Given the description of an element on the screen output the (x, y) to click on. 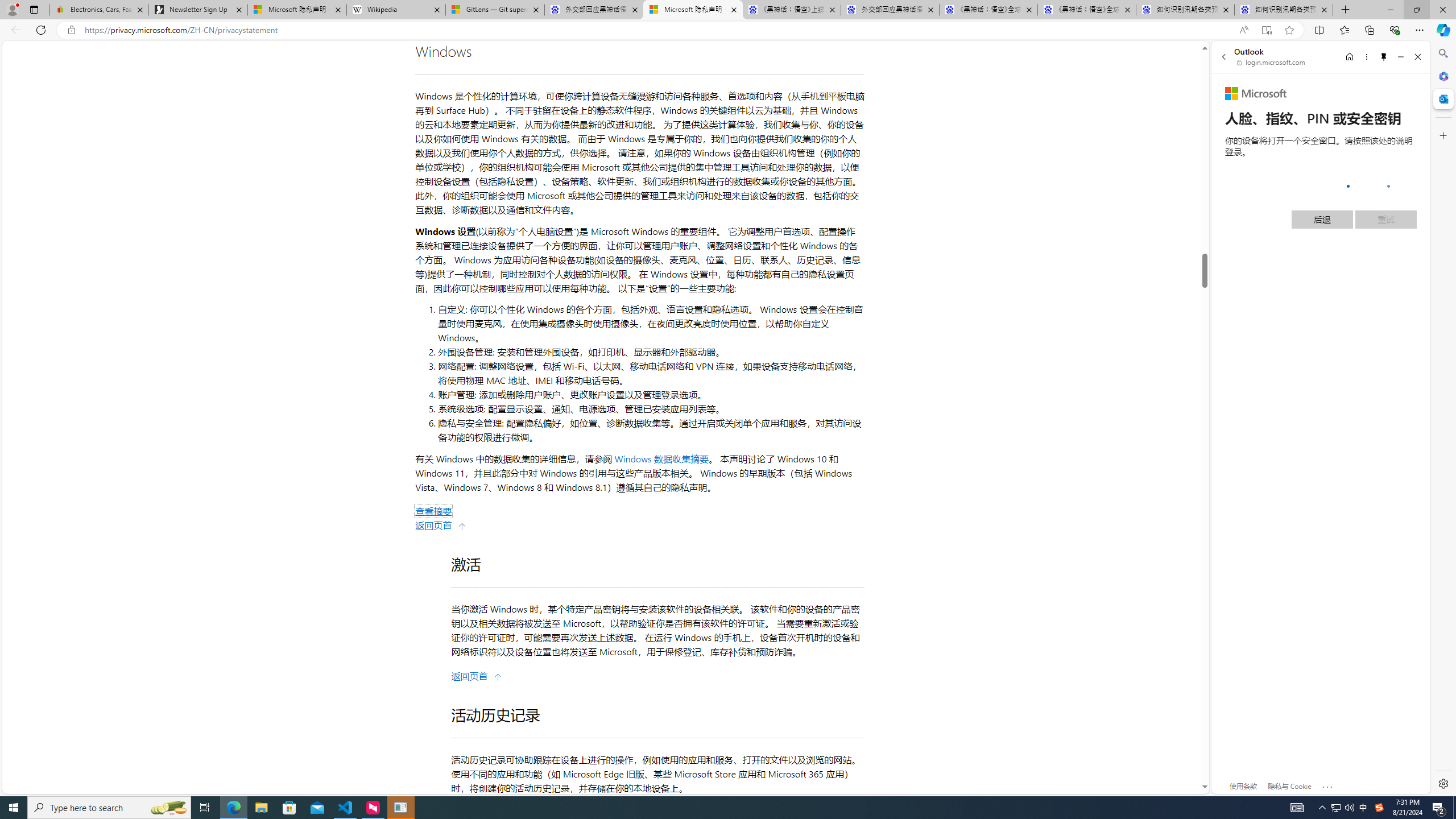
login.microsoft.com (1271, 61)
